Given the description of an element on the screen output the (x, y) to click on. 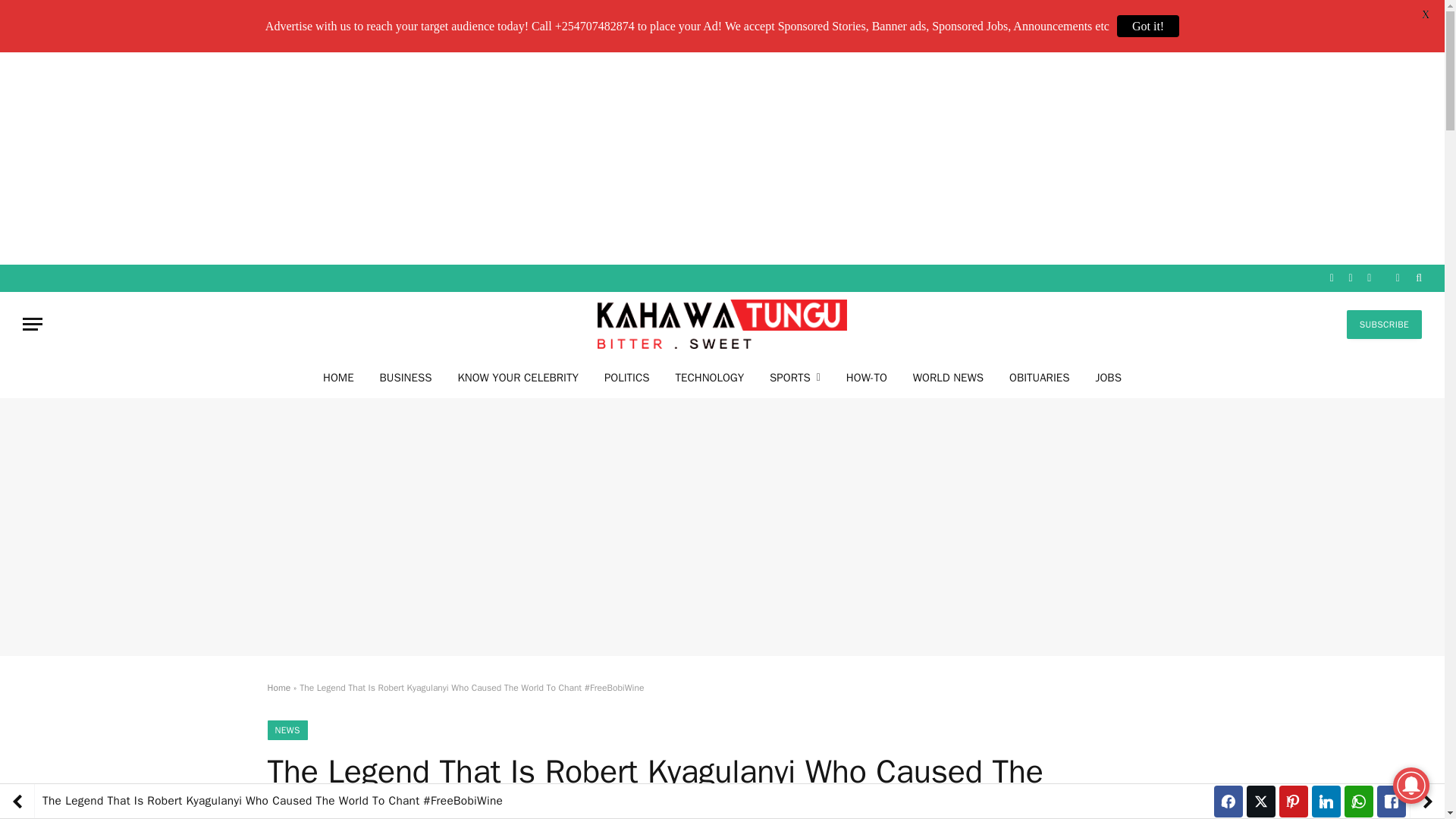
SUBSCRIBE (1384, 324)
KNOW YOUR CELEBRITY (517, 377)
SPORTS (794, 377)
NEWS (286, 730)
POLITICS (626, 377)
WORLD NEWS (947, 377)
HOW-TO (865, 377)
BUSINESS (405, 377)
Facebook (1331, 277)
OBITUARIES (1038, 377)
TECHNOLOGY (709, 377)
Home (277, 687)
Switch to Dark Design - easier on eyes. (1397, 277)
